Given the description of an element on the screen output the (x, y) to click on. 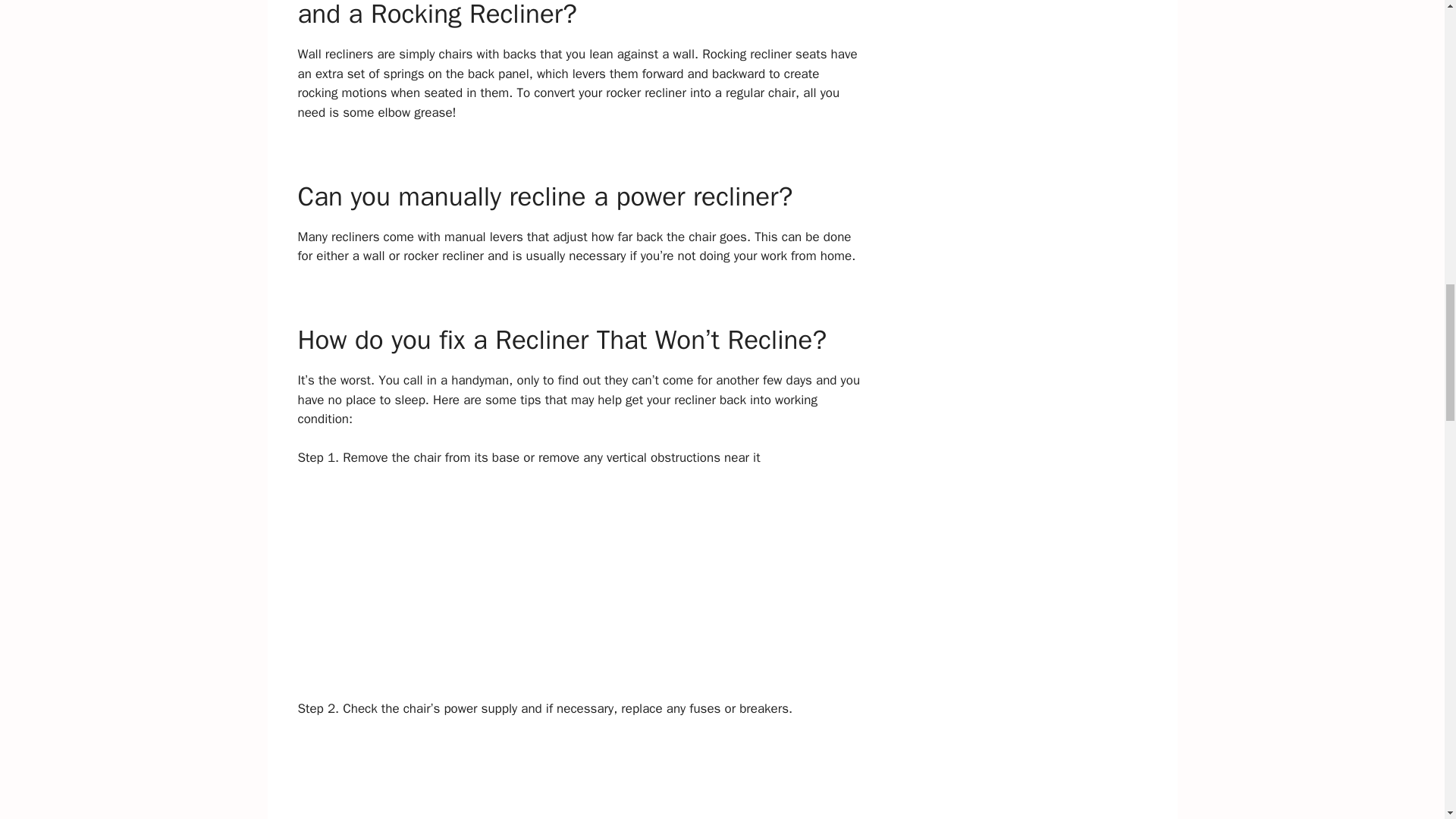
Advertisement (579, 592)
Advertisement (579, 778)
